Given the description of an element on the screen output the (x, y) to click on. 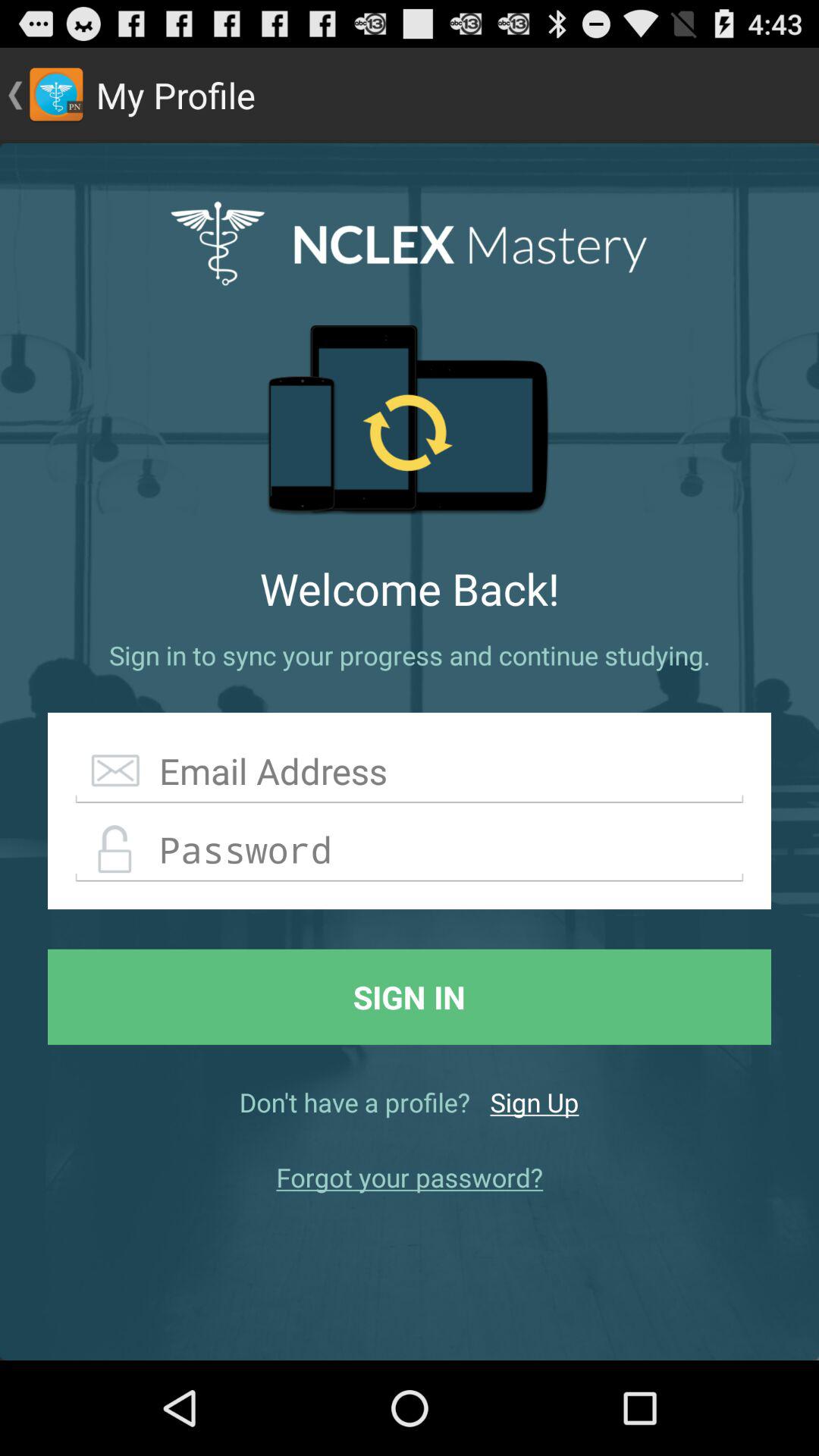
creat message (409, 771)
